Given the description of an element on the screen output the (x, y) to click on. 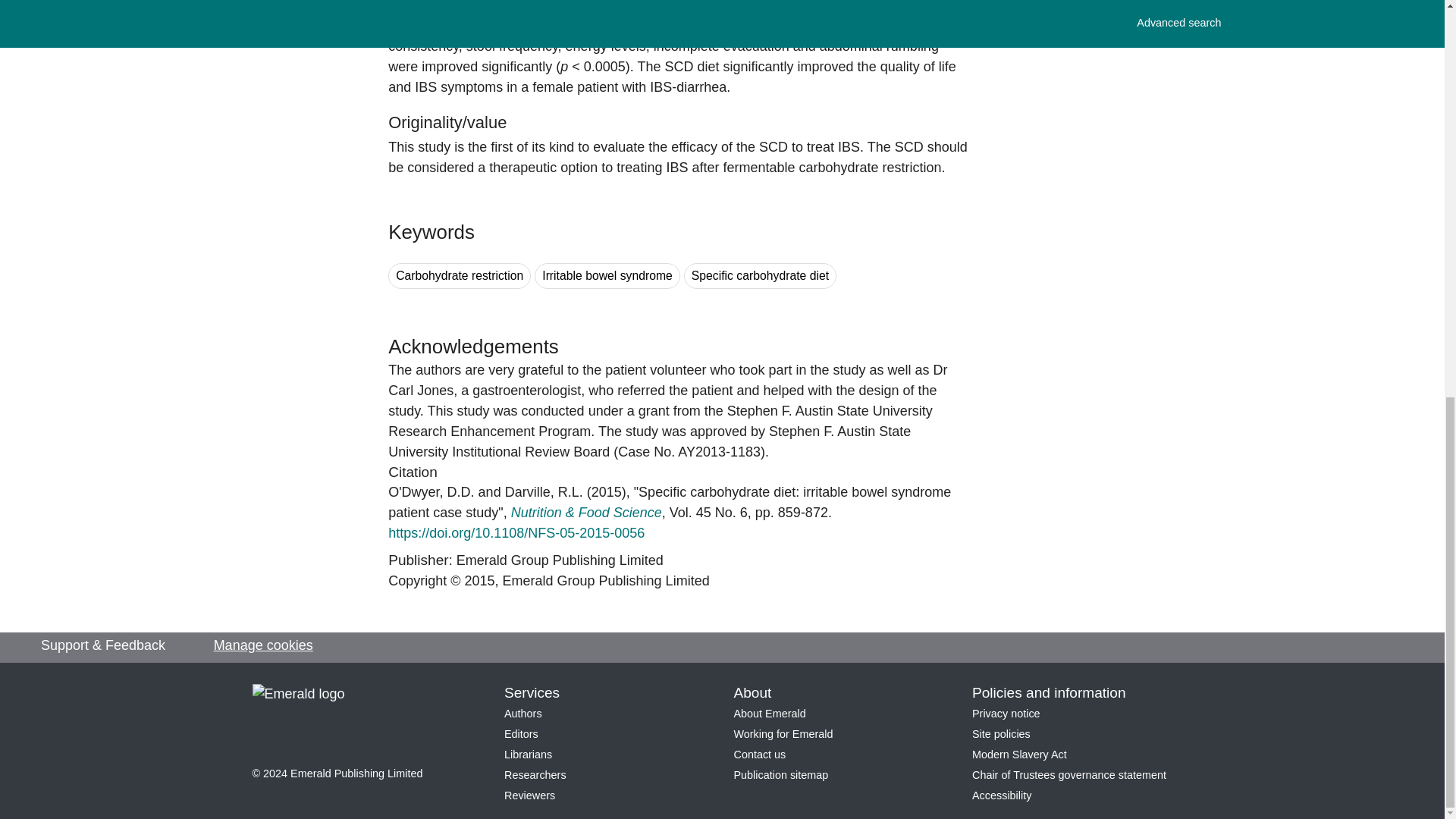
Reviewers (528, 795)
Search for keyword Specific carbohydrate diet (759, 275)
Researchers (534, 775)
Working for Emerald (782, 734)
Publication sitemap (780, 775)
Darville, R.L. (544, 491)
Search for keyword Irritable bowel syndrome (606, 275)
Darla D. O'Dwyer (431, 491)
Librarians (527, 754)
Ray L. Darville (544, 491)
